Given the description of an element on the screen output the (x, y) to click on. 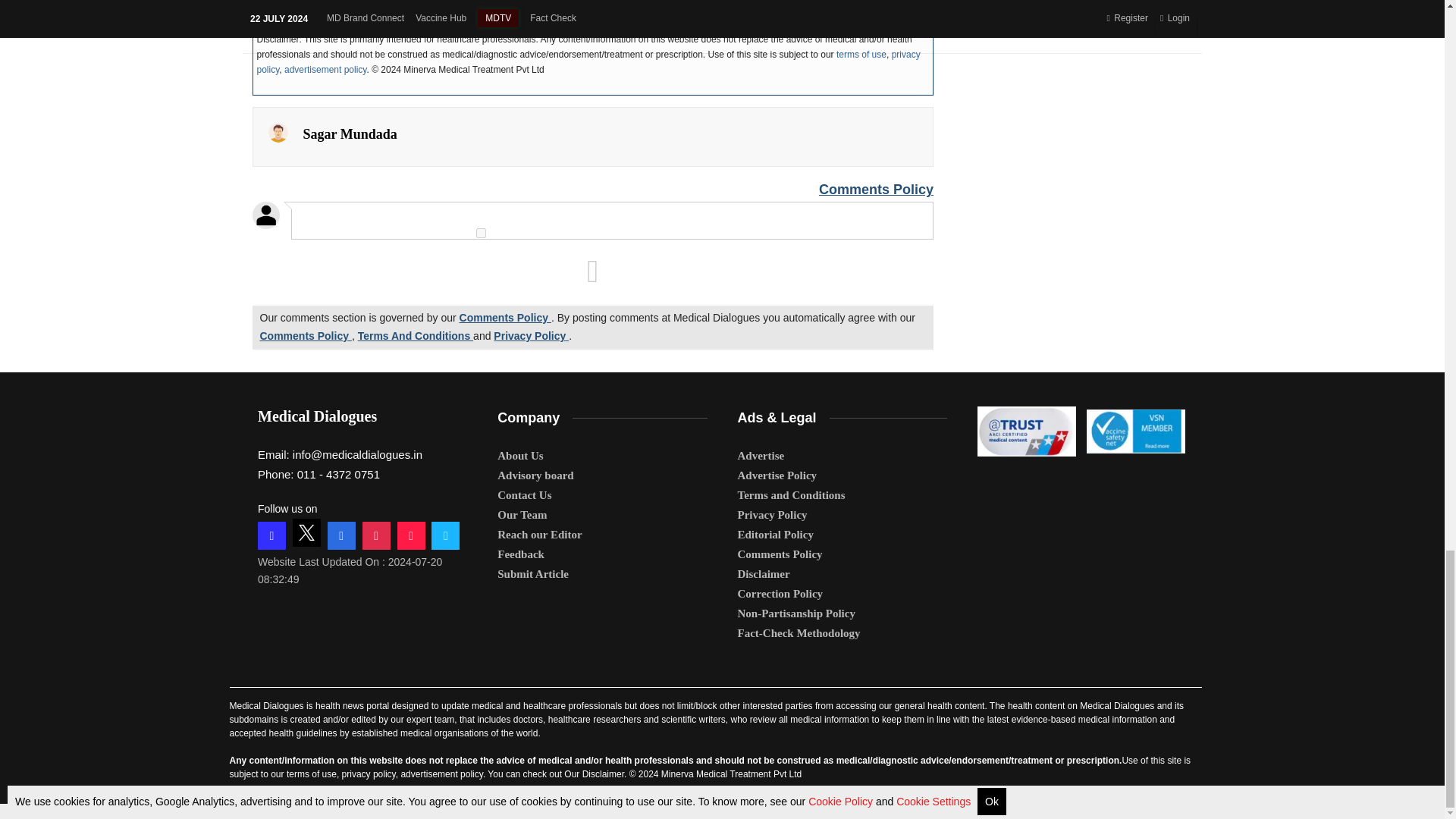
on (481, 233)
sagar mundada (277, 132)
